Given the description of an element on the screen output the (x, y) to click on. 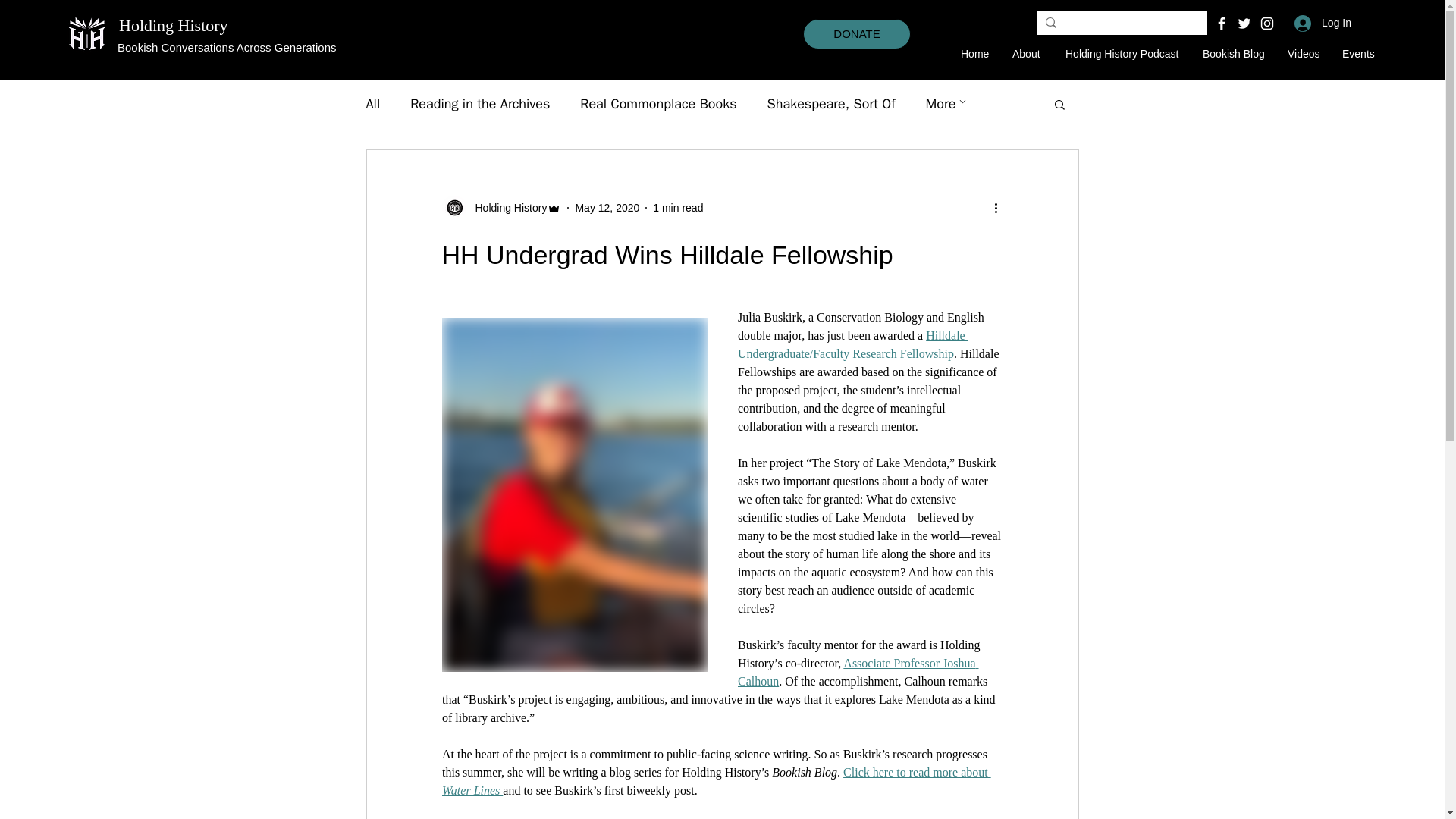
Holding History (173, 25)
Real Commonplace Books (657, 104)
Events (1362, 53)
Holding History (506, 207)
Holding History Podcast (1126, 53)
Bookish Blog (1237, 53)
DONATE (857, 33)
Reading in the Archives (480, 104)
Home (978, 53)
Associate Professor Joshua Calhoun (857, 671)
